Given the description of an element on the screen output the (x, y) to click on. 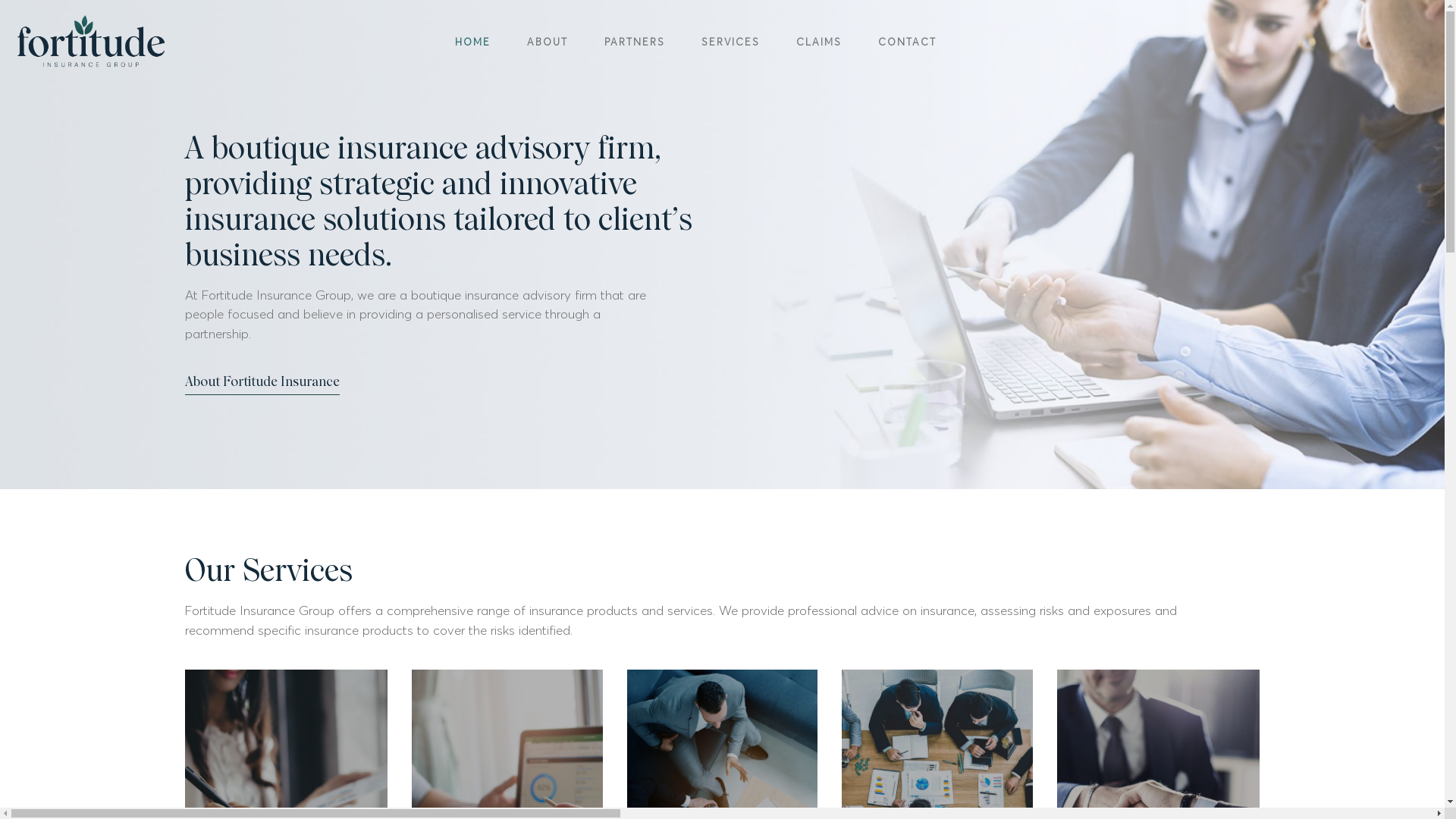
PARTNERS Element type: text (633, 41)
About Fortitude Insurance Element type: text (262, 385)
CONTACT Element type: text (907, 41)
HOME Element type: text (472, 41)
ABOUT Element type: text (546, 41)
SERVICES Element type: text (729, 41)
CLAIMS Element type: text (818, 41)
